Given the description of an element on the screen output the (x, y) to click on. 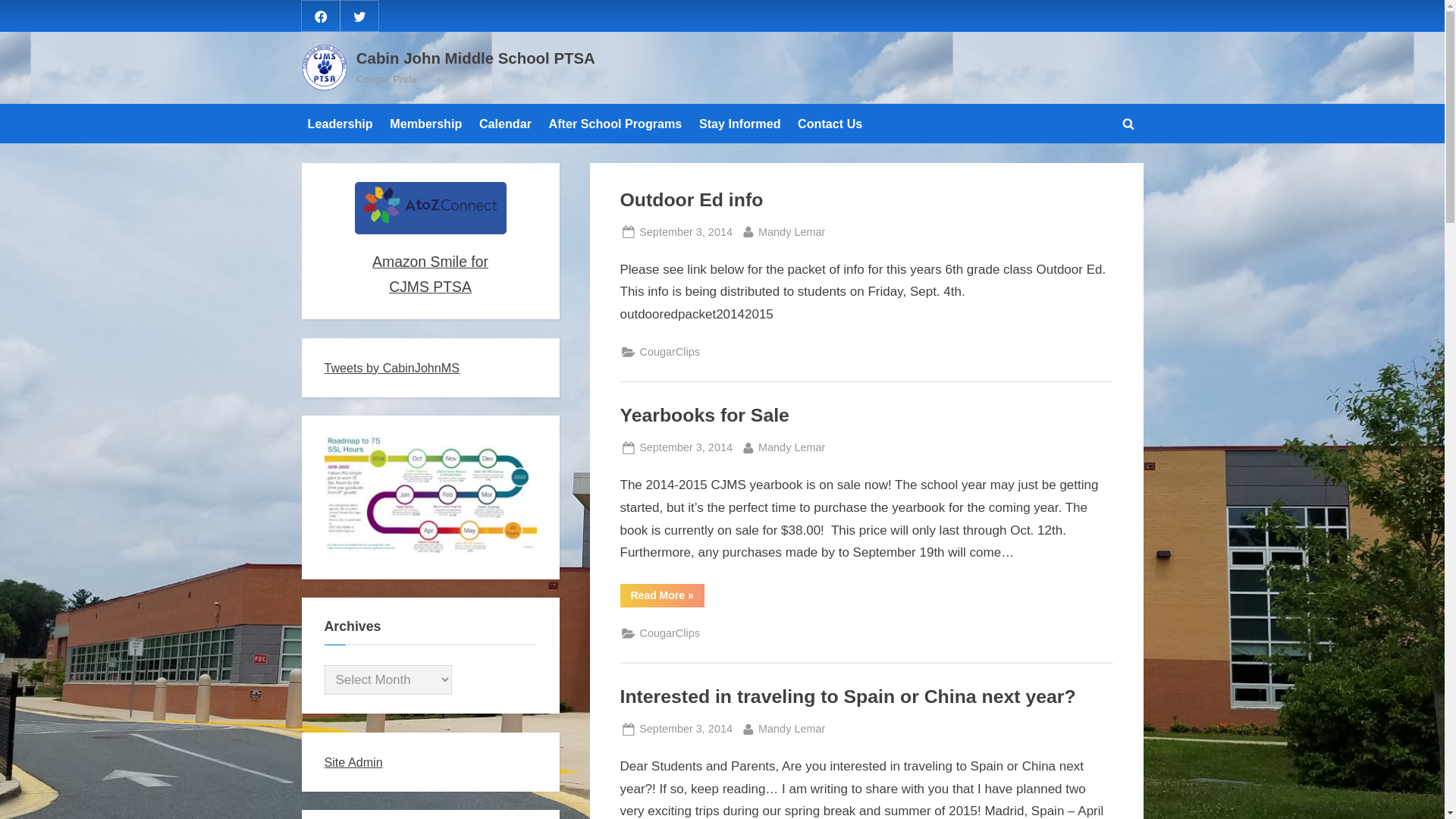
Interested in traveling to Spain or China next year? (685, 728)
Membership (685, 231)
Stay Informed (847, 696)
CougarClips (791, 728)
Twitter (425, 123)
Facebook (685, 447)
After School Programs (740, 123)
Leadership (670, 352)
Yearbooks for Sale (359, 15)
CougarClips (320, 15)
Outdoor Ed info (614, 123)
